Given the description of an element on the screen output the (x, y) to click on. 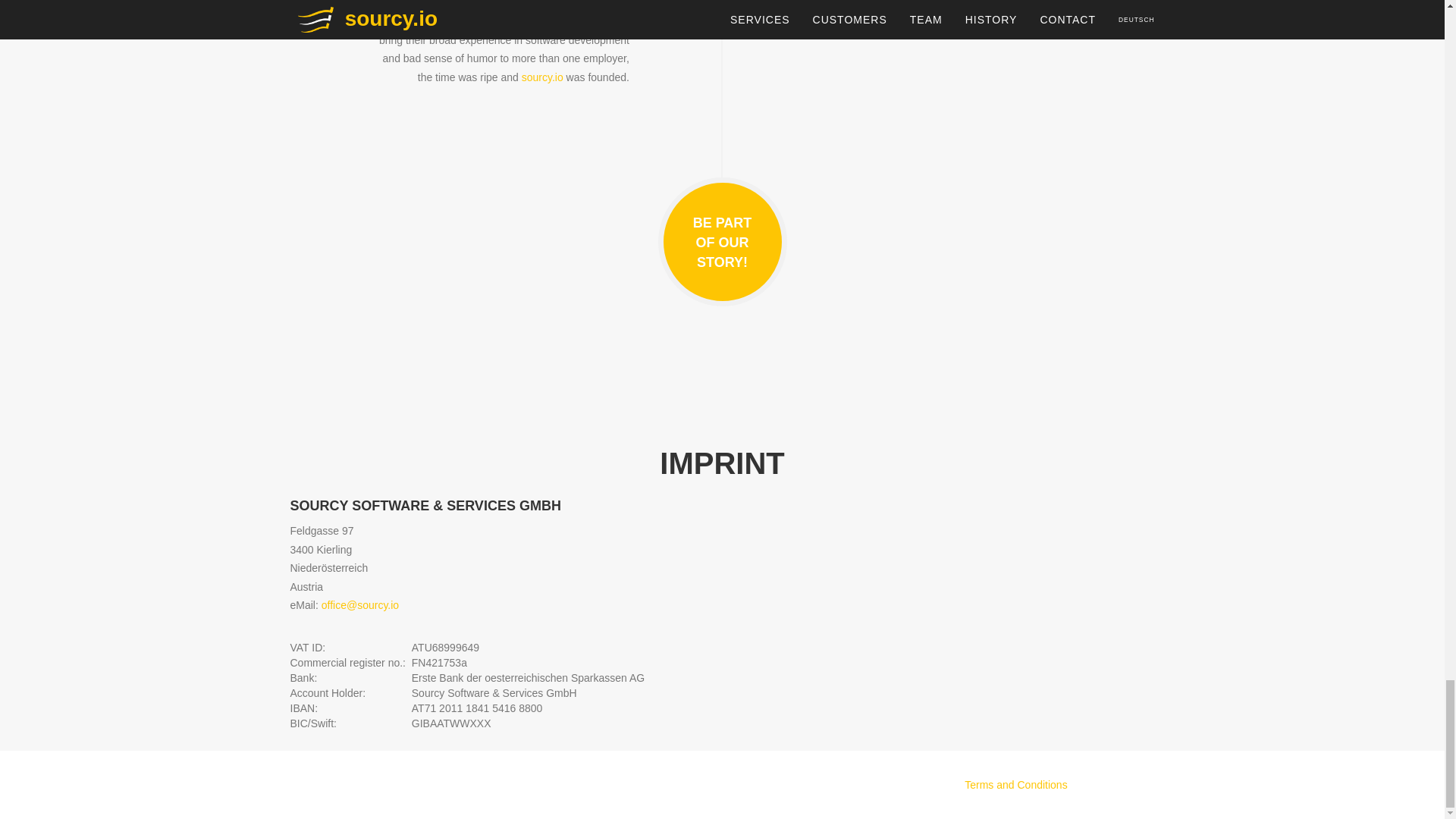
Terms and Conditions (1015, 784)
sourcy.io (542, 77)
